Given the description of an element on the screen output the (x, y) to click on. 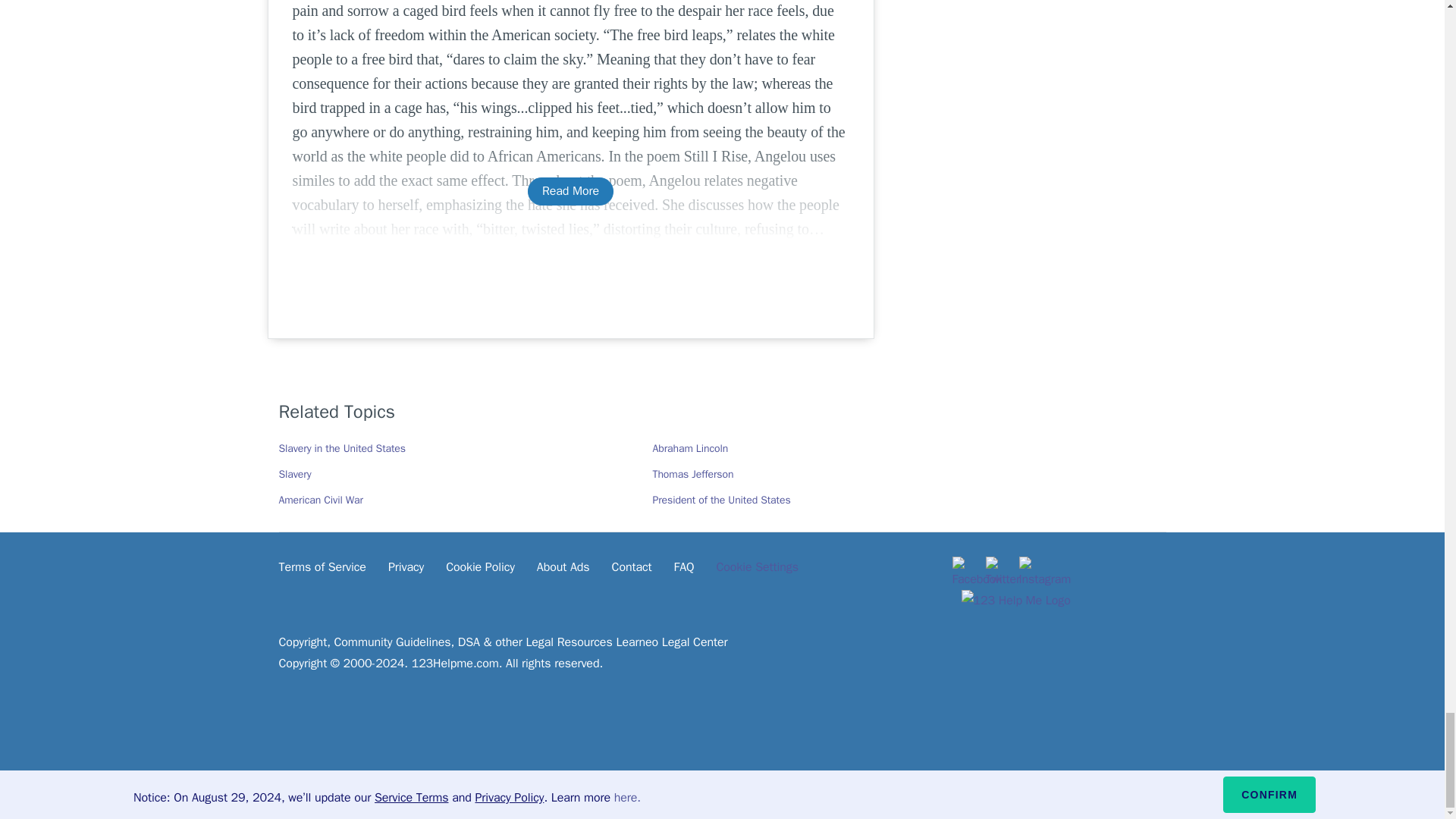
Slavery (295, 473)
President of the United States (721, 499)
Slavery in the United States (342, 448)
American Civil War (320, 499)
Thomas Jefferson (692, 473)
Abraham Lincoln (690, 448)
